Given the description of an element on the screen output the (x, y) to click on. 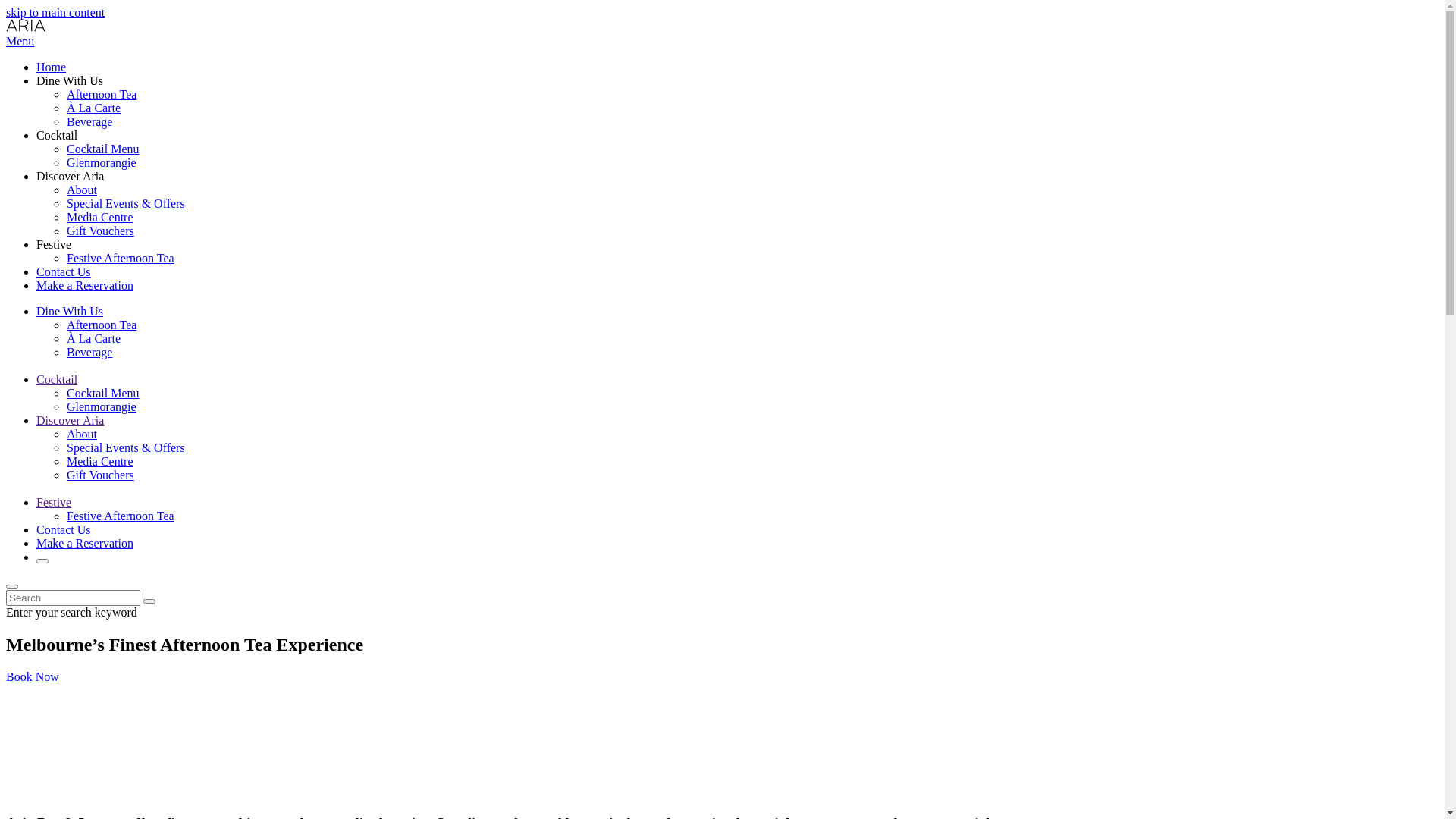
Festive Element type: text (53, 501)
Contact Us Element type: text (63, 271)
Special Events & Offers Element type: text (125, 203)
Beverage Element type: text (89, 121)
Media Centre Element type: text (99, 216)
Discover Aria Element type: text (69, 420)
About Element type: text (81, 433)
Afternoon Tea Element type: text (101, 324)
Gift Vouchers Element type: text (100, 474)
Special Events & Offers Element type: text (125, 447)
Dine With Us Element type: text (69, 310)
Cocktail Menu Element type: text (102, 392)
Beverage Element type: text (89, 351)
Media Centre Element type: text (99, 461)
skip to main content Element type: text (55, 12)
Festive Afternoon Tea Element type: text (120, 515)
Glenmorangie Element type: text (101, 162)
Make a Reservation Element type: text (84, 542)
Home Element type: text (50, 66)
Festive Afternoon Tea Element type: text (120, 257)
Cocktail Menu Element type: text (102, 148)
Make a Reservation Element type: text (84, 285)
Glenmorangie Element type: text (101, 406)
Menu Element type: text (20, 40)
Cocktail Element type: text (56, 379)
Afternoon Tea Element type: text (101, 93)
About Element type: text (81, 189)
Contact Us Element type: text (63, 529)
Gift Vouchers Element type: text (100, 230)
Book Now Element type: text (32, 676)
